Given the description of an element on the screen output the (x, y) to click on. 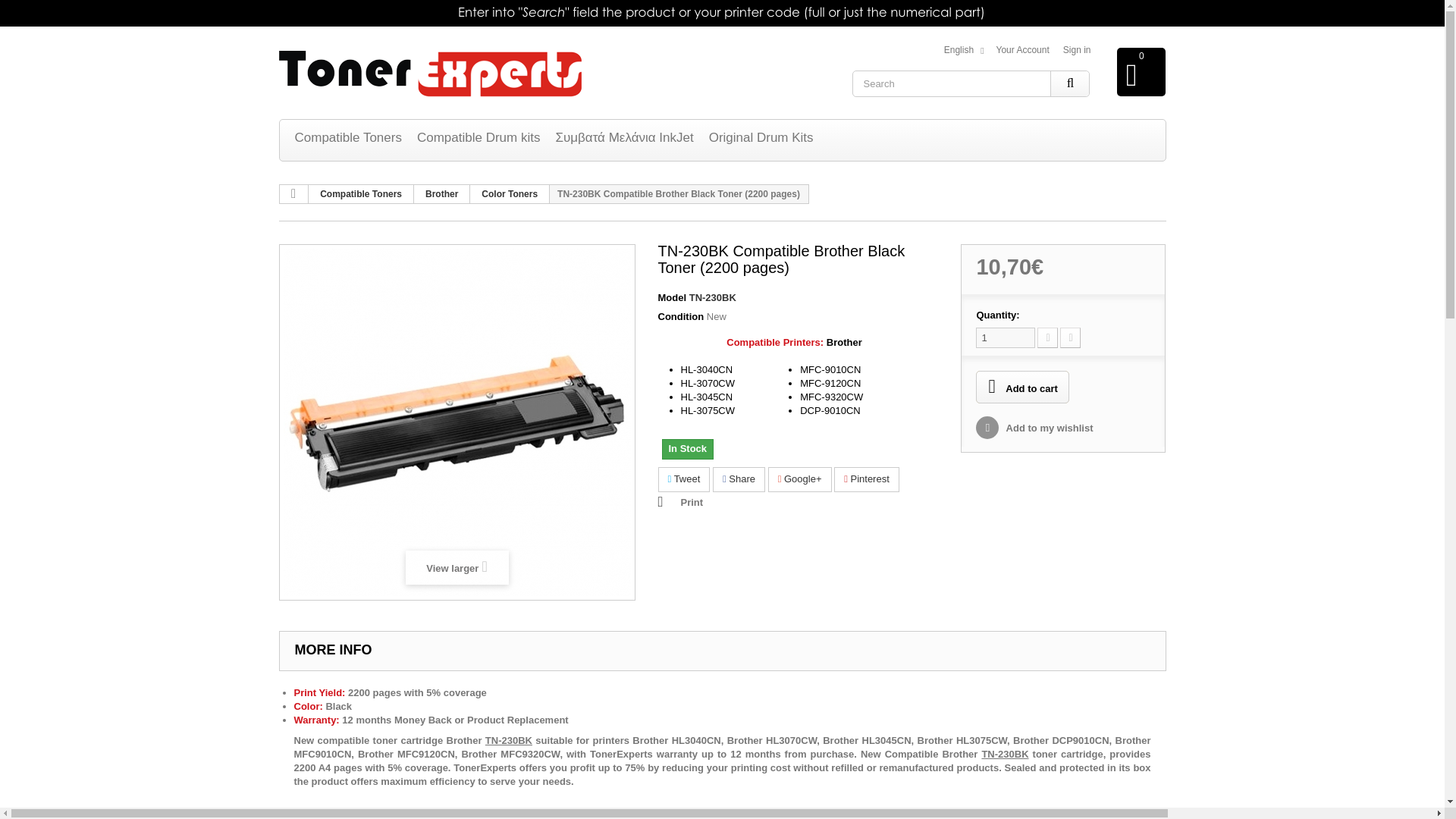
Sign in (1076, 50)
search tips (722, 13)
0 (1141, 71)
View my shopping cart (1141, 71)
TonerExperts (430, 73)
Login to your customer account (1076, 50)
Your Account (1022, 50)
1 (1005, 337)
Compatible Toners (347, 137)
Compatible Toners (347, 137)
